Given the description of an element on the screen output the (x, y) to click on. 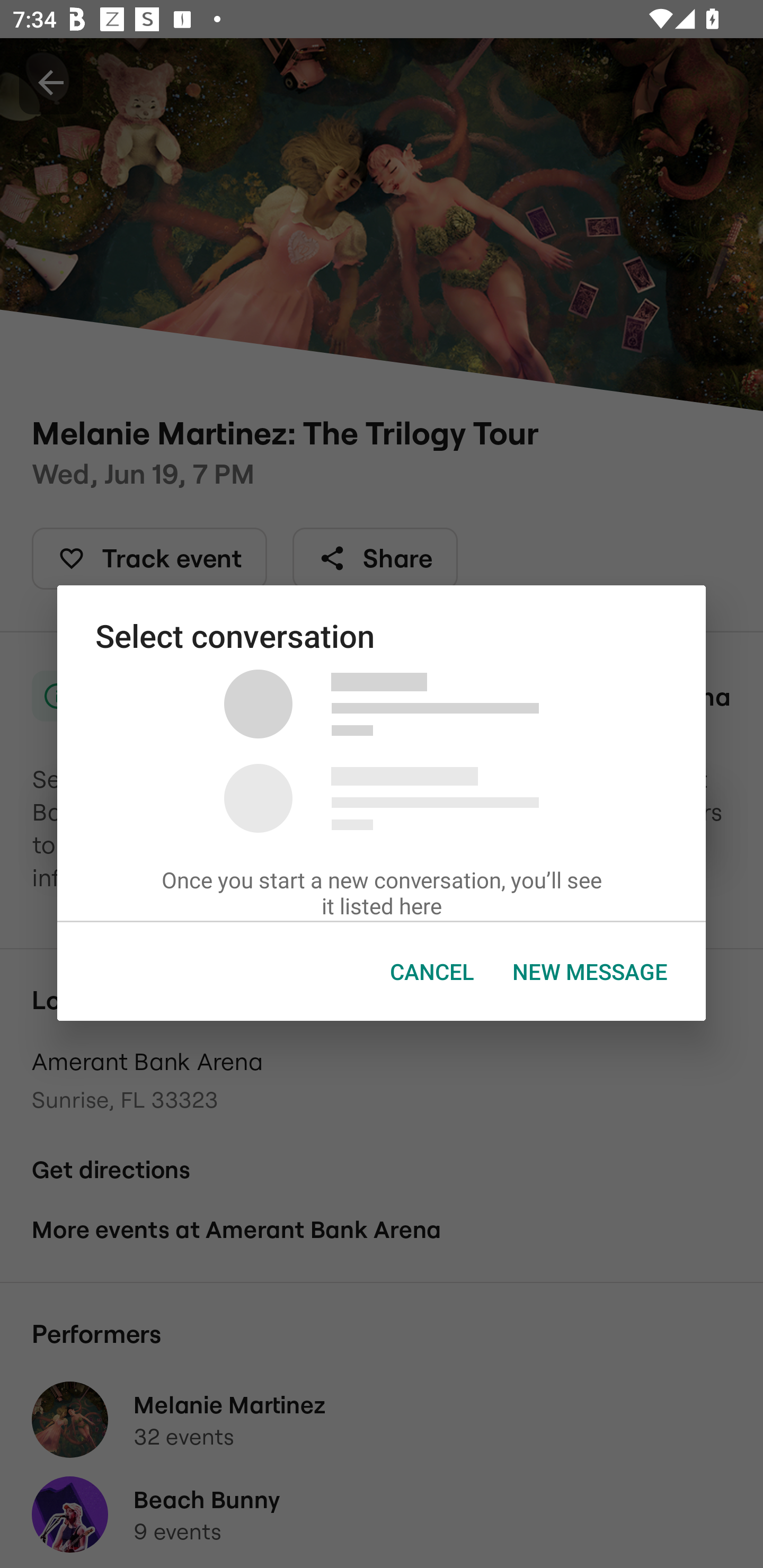
CANCEL (431, 971)
NEW MESSAGE (589, 971)
